Given the description of an element on the screen output the (x, y) to click on. 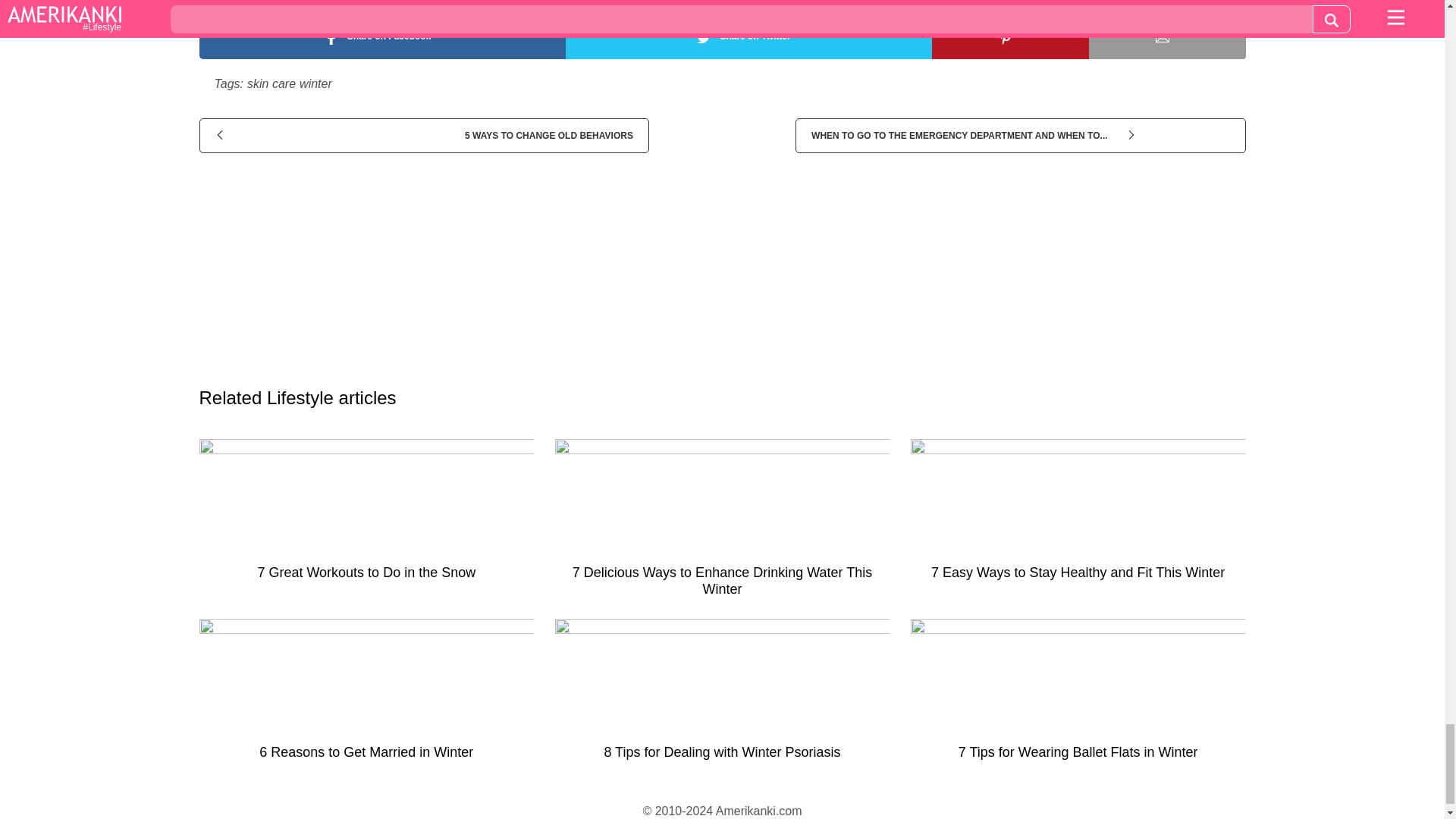
Share on Twitter (748, 35)
Share on Facebook (381, 35)
When to Go to the Emergency Department and When to Stay Home (1019, 135)
5 Ways to Change Old Behaviors (422, 135)
